Given the description of an element on the screen output the (x, y) to click on. 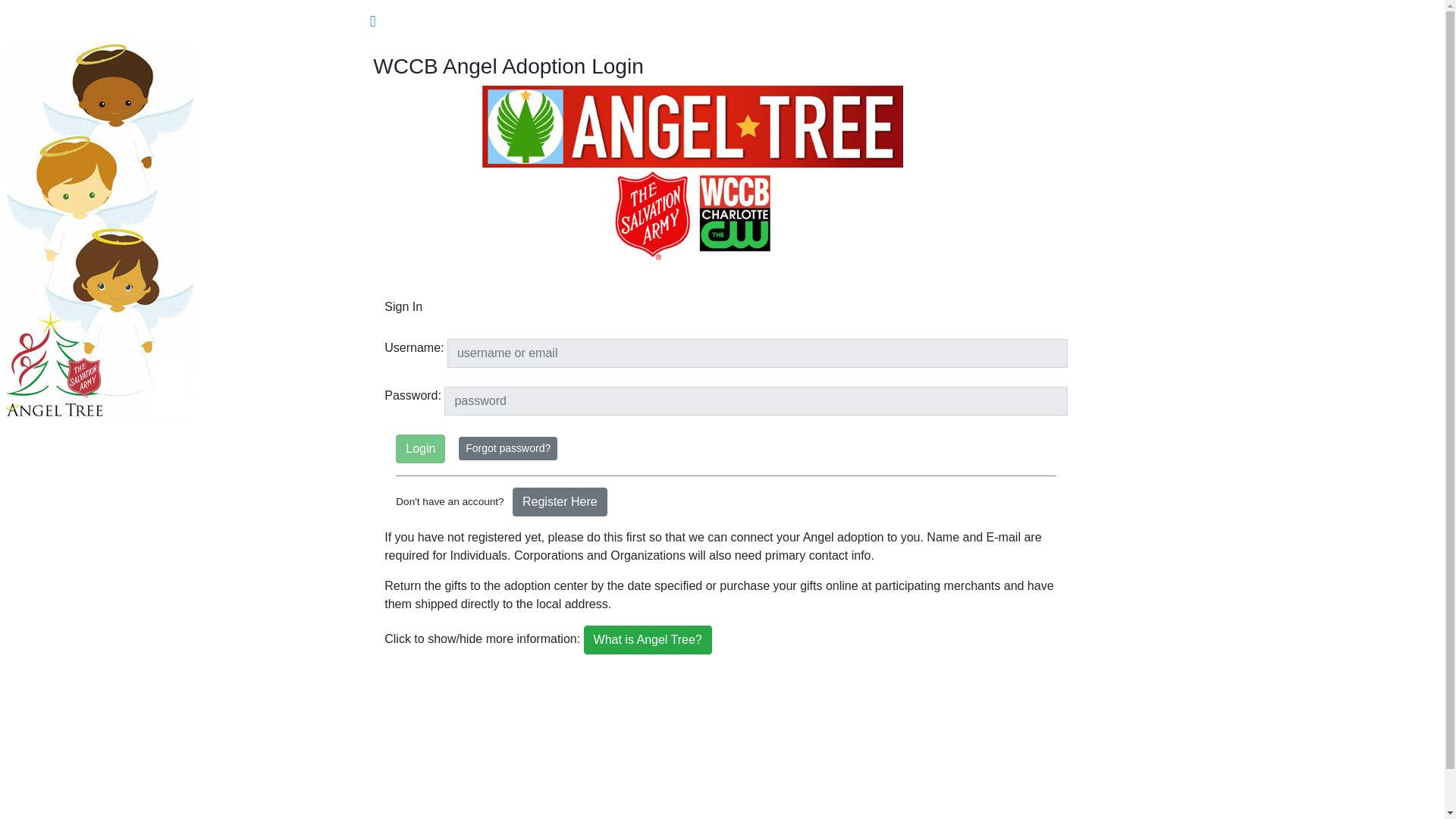
Register Here (559, 501)
What is Angel Tree? (647, 639)
Login (420, 448)
Forgot password? (507, 448)
